Given the description of an element on the screen output the (x, y) to click on. 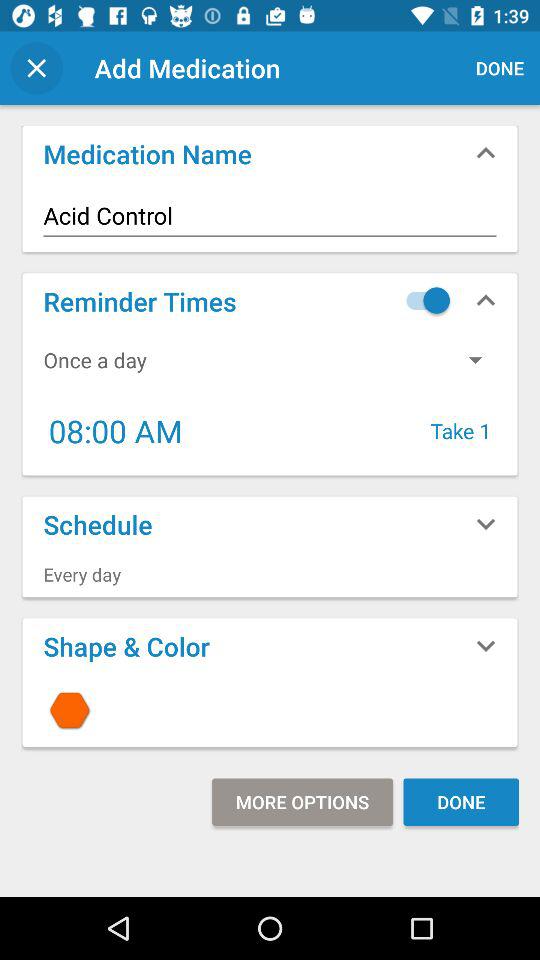
click cancel (36, 68)
